Given the description of an element on the screen output the (x, y) to click on. 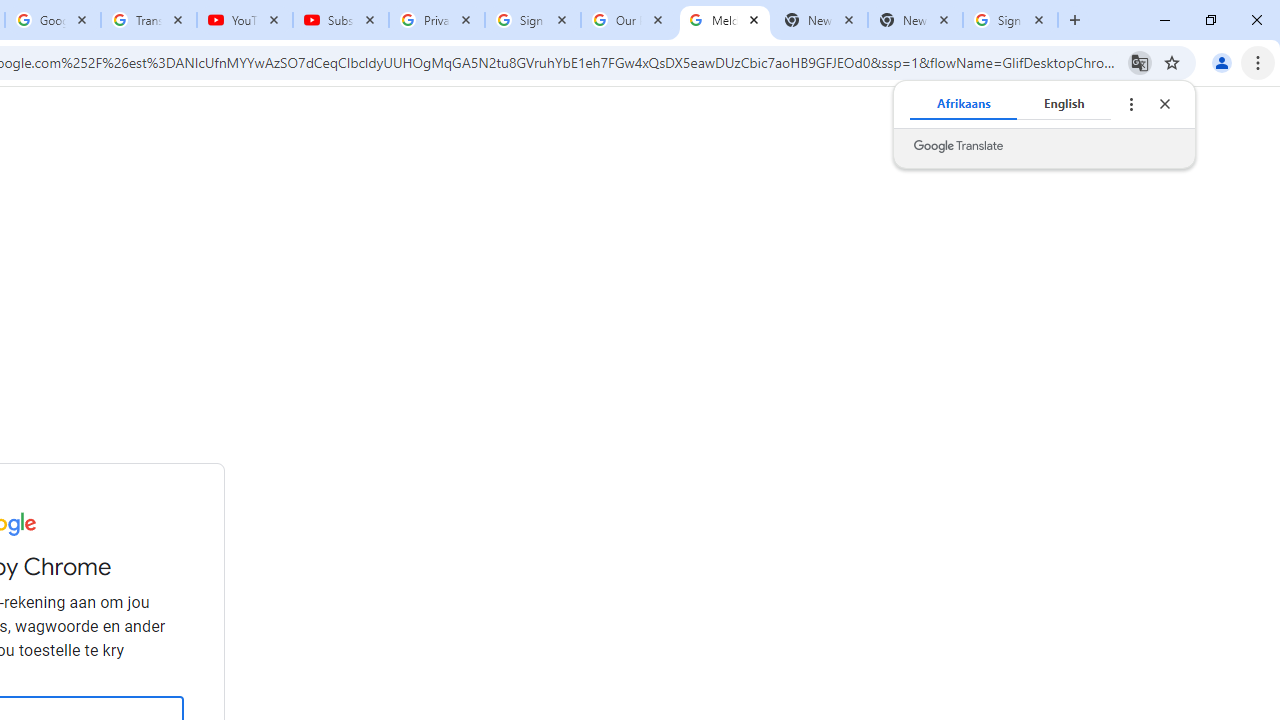
Subscriptions - YouTube (341, 20)
Afrikaans (963, 103)
Sign in - Google Accounts (1010, 20)
Sign in - Google Accounts (533, 20)
Translate options (1130, 103)
New Tab (914, 20)
English (1064, 103)
